Given the description of an element on the screen output the (x, y) to click on. 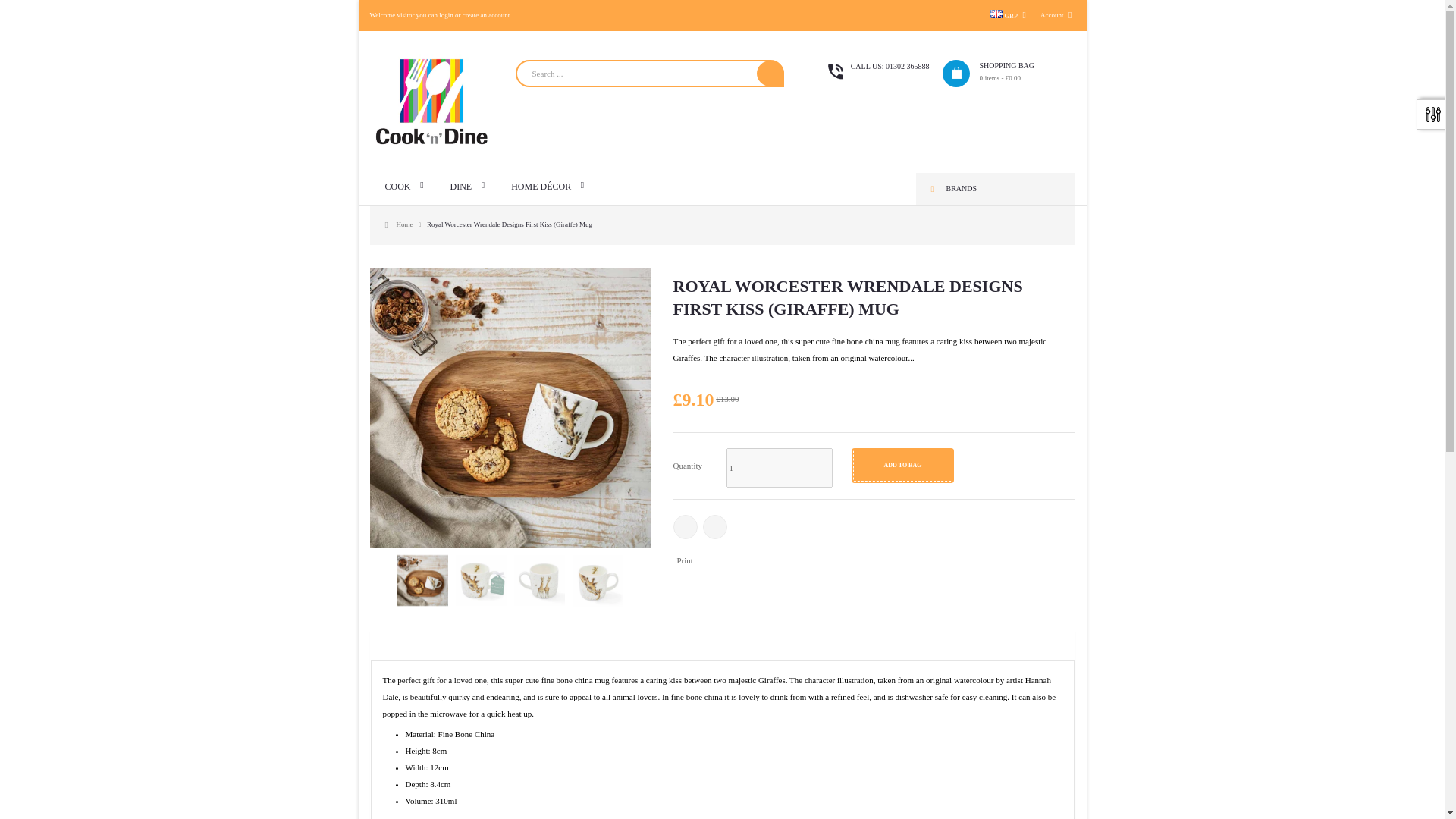
1 (779, 467)
